Given the description of an element on the screen output the (x, y) to click on. 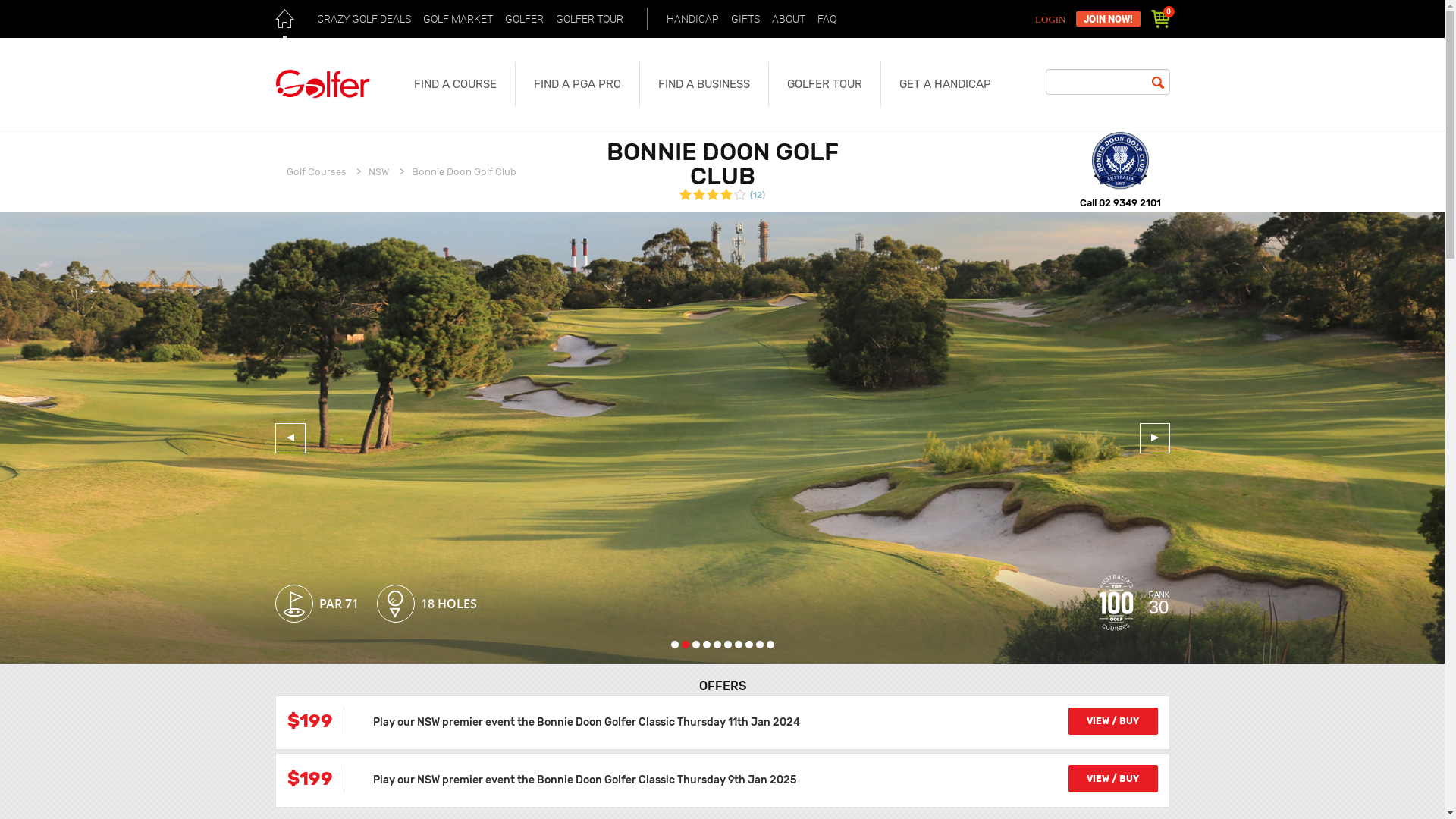
3 Element type: text (695, 644)
Next Element type: text (1154, 438)
4 Element type: text (705, 644)
LOGIN Element type: text (1052, 19)
7 Element type: text (737, 644)
Call 02 9349 2101 Element type: text (1120, 203)
GOLFER Element type: text (523, 18)
8 Element type: text (748, 644)
9 Element type: text (758, 644)
VIEW / BUY Element type: text (1112, 778)
Golf Courses Element type: text (316, 171)
HANDICAP Element type: text (692, 18)
5 Element type: text (716, 644)
ABOUT Element type: text (787, 18)
FAQ Element type: text (825, 18)
FIND A BUSINESS Element type: text (703, 84)
CRAZY GOLF DEALS Element type: text (363, 18)
Previous Element type: text (289, 438)
GOLF MARKET Element type: text (456, 18)
JOIN NOW! Element type: text (1107, 18)
1 Element type: text (673, 644)
GET A HANDICAP Element type: text (944, 84)
GOLFER TOUR Element type: text (823, 84)
10 Element type: text (769, 644)
NSW Element type: text (378, 171)
0 Element type: text (1160, 18)
6 Element type: text (727, 644)
GOLFER TOUR Element type: text (589, 18)
FIND A PGA PRO Element type: text (576, 84)
VIEW / BUY Element type: text (1112, 720)
GIFTS Element type: text (744, 18)
2 Element type: text (684, 644)
FIND A COURSE Element type: text (454, 84)
